Given the description of an element on the screen output the (x, y) to click on. 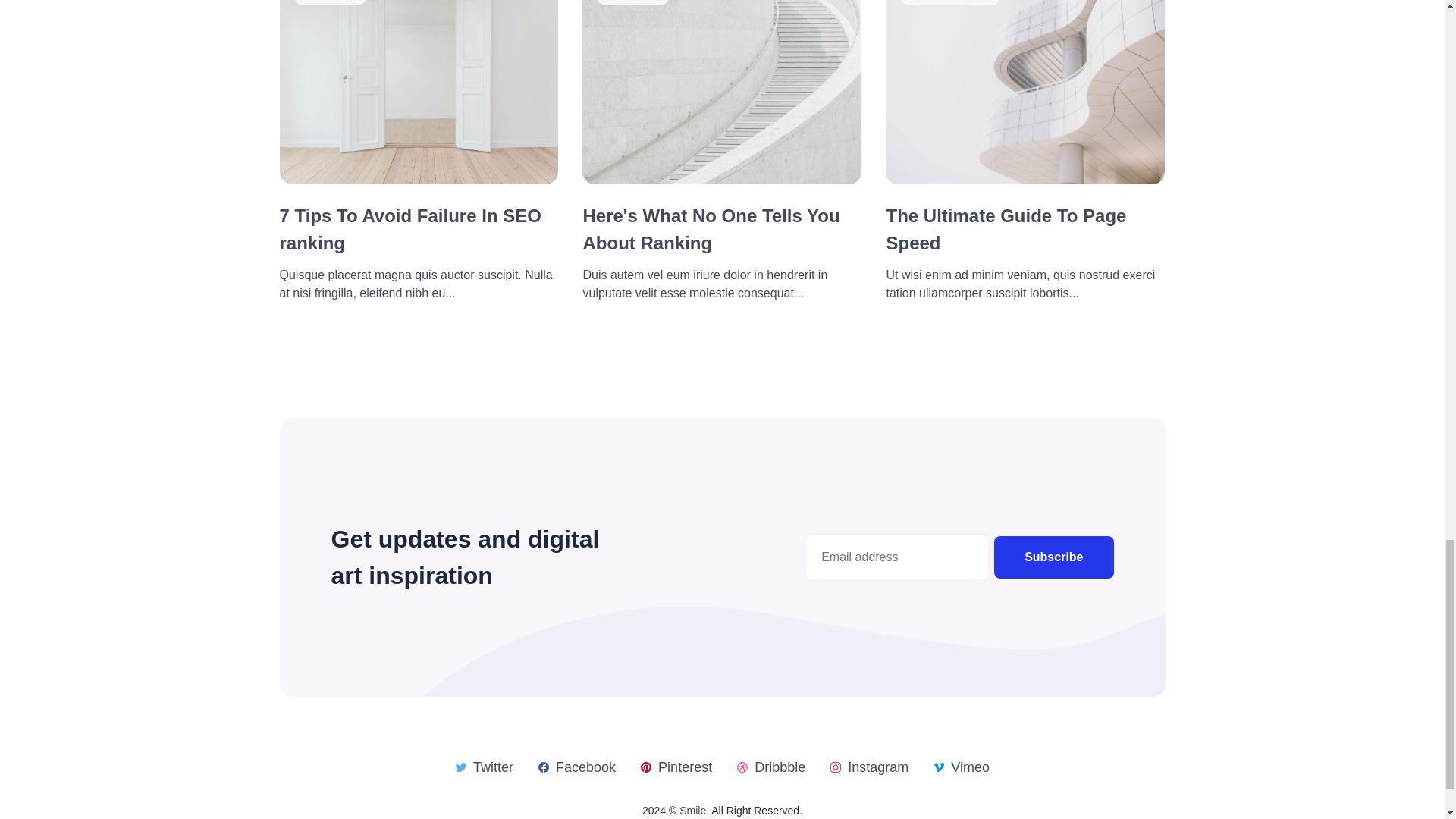
Vimeo (961, 767)
Smile (692, 810)
Subscribe (1053, 557)
Facebook (576, 767)
7 Tips To Avoid Failure In SEO ranking (409, 229)
Here's What No One Tells You About Ranking (711, 229)
Instagram (868, 767)
The Ultimate Guide To Page Speed (1005, 229)
Dribbble (770, 767)
Twitter (483, 767)
Pinterest (675, 767)
